Given the description of an element on the screen output the (x, y) to click on. 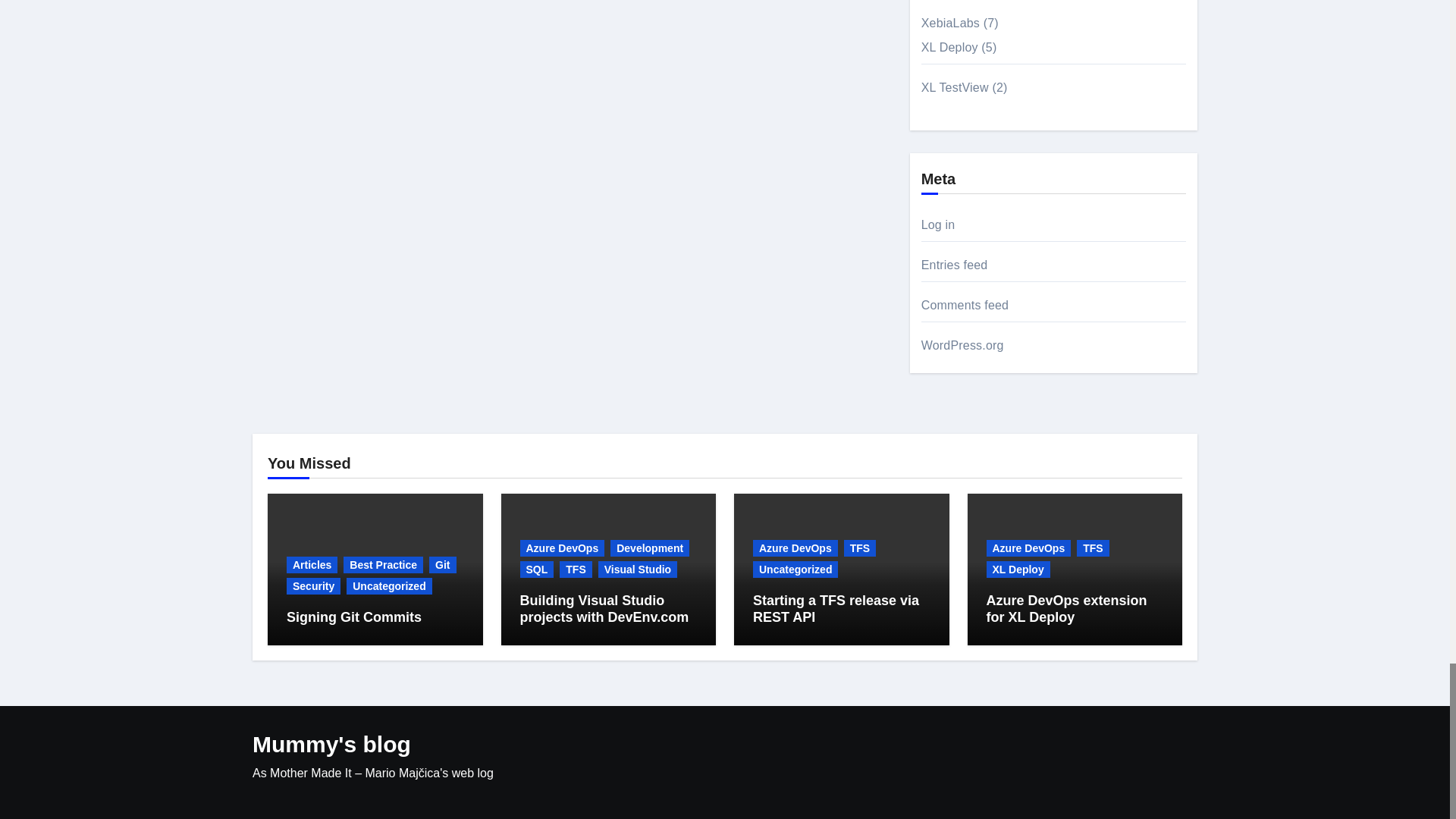
Permalink to: Signing Git Commits (354, 616)
Permalink to: Starting a TFS release via REST API (835, 608)
Permalink to: Azure DevOps extension for XL Deploy (1066, 608)
